Given the description of an element on the screen output the (x, y) to click on. 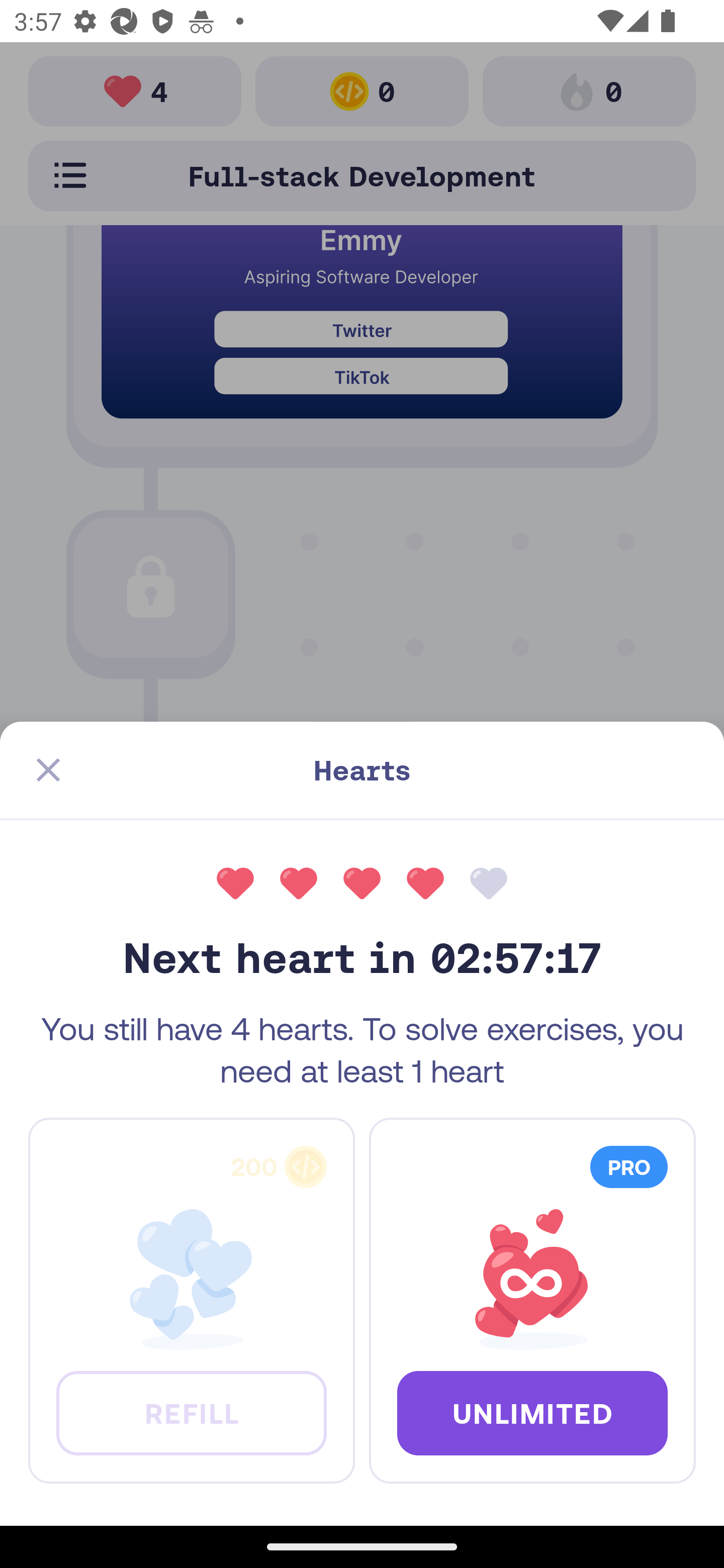
Close (47, 769)
Path Icon (361, 797)
REFILL (191, 1412)
UNLIMITED (532, 1412)
